Given the description of an element on the screen output the (x, y) to click on. 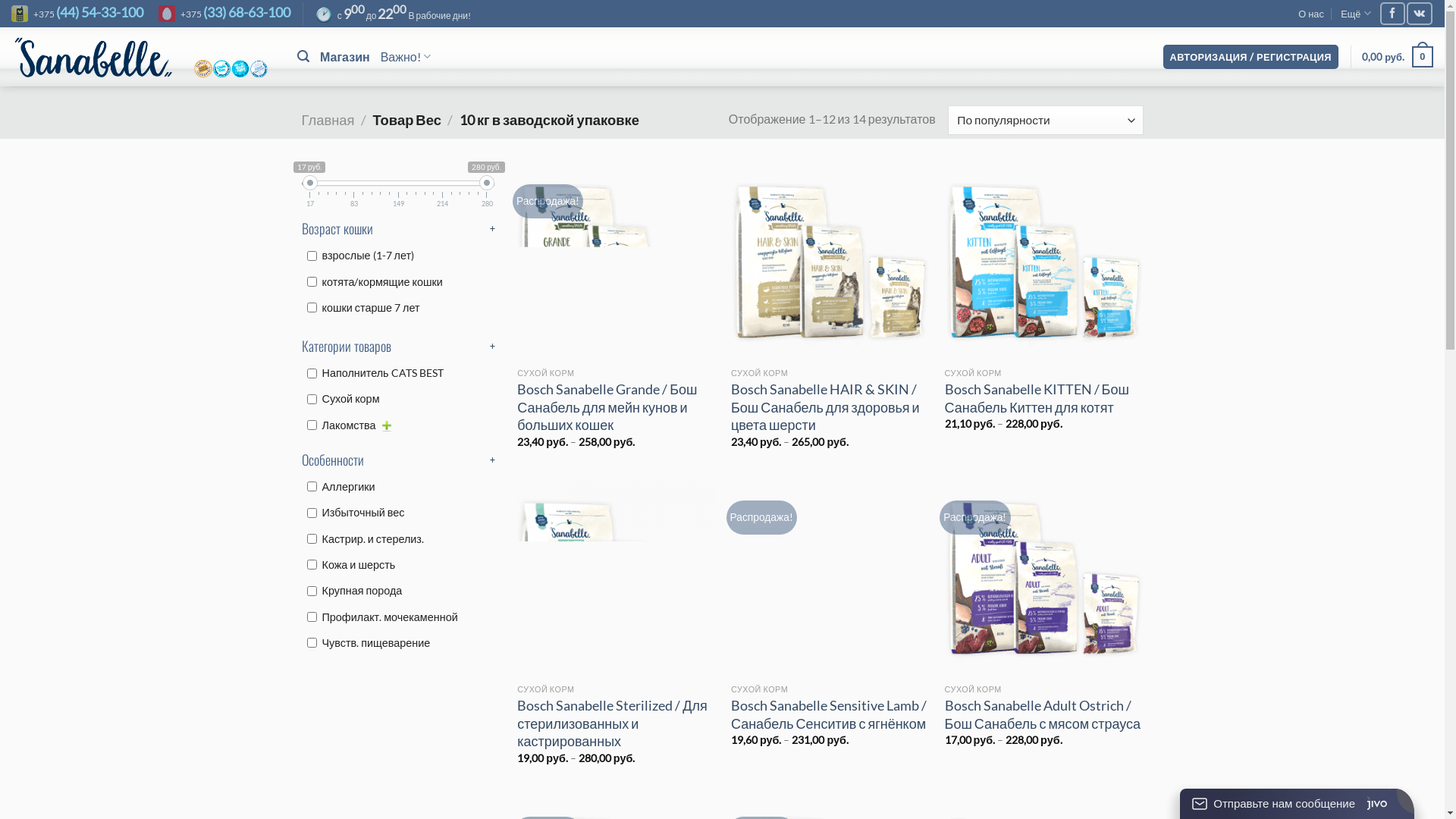
+375 (44) 54-33-100 Element type: text (77, 13)
+ Element type: text (492, 228)
+ Element type: text (492, 346)
+ Element type: text (492, 459)
+375 (33) 68-63-100 Element type: text (224, 13)
